Given the description of an element on the screen output the (x, y) to click on. 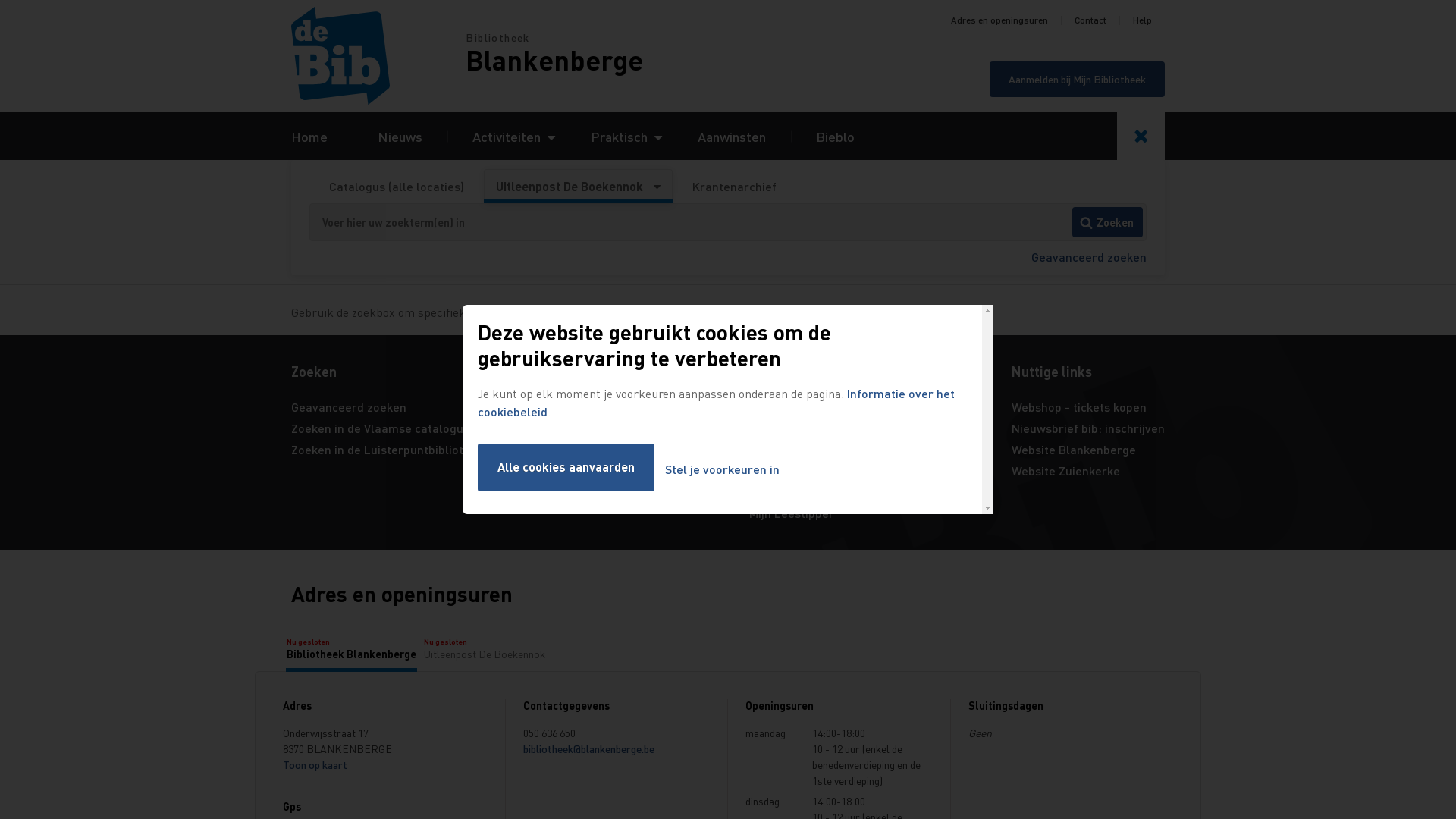
bibliotheek@blankenberge.be Element type: text (588, 748)
Alle cookies aanvaarden Element type: text (565, 466)
Home Element type: hover (378, 55)
Zoeken in de Luisterpuntbibliotheek Element type: text (390, 449)
Bieblo Element type: text (834, 136)
Geavanceerd zoeken Element type: text (1088, 256)
Taalpunt Jeugd Element type: text (603, 470)
Aanmelden bij Mijn Bibliotheek Element type: text (1076, 79)
Overslaan en naar zoeken gaan Element type: text (0, 0)
Toggle search Element type: hover (1140, 136)
Zoeken Element type: text (1107, 222)
Zoeken in de Vlaamse catalogus Element type: text (380, 428)
Webshop - tickets kopen Element type: text (1078, 406)
Home Element type: text (309, 136)
Informatie over het cookiebeleid Element type: text (715, 402)
Krantenarchief Element type: text (733, 186)
Taalpunt Nederlands Element type: text (619, 449)
Website Zuienkerke Element type: text (1065, 470)
Een e-reader aanvragen Element type: text (816, 449)
Historisch Infopunt Element type: text (613, 428)
Contact Element type: text (1090, 20)
Aanwinsten Element type: text (731, 136)
E-boeken lezen op je eigen toestel Element type: text (844, 470)
Stel je voorkeuren in Element type: text (722, 469)
Nu gesloten
Bibliotheek Blankenberge Element type: text (351, 648)
Nieuwsbrief bib: inschrijven Element type: text (1087, 428)
Mijn Leestipper Element type: text (791, 512)
Toon op kaart Element type: text (314, 764)
Adres en openingsuren Element type: text (999, 20)
Nu gesloten
Uitleenpost De Boekennok Element type: text (484, 648)
Digi-Hulp Element type: text (774, 428)
Geavanceerd zoeken Element type: text (348, 406)
Help Element type: text (1141, 20)
Nieuws Element type: text (399, 136)
Fundels Element type: text (583, 406)
Catalogus (alle locaties) Element type: text (396, 186)
Boekendienst aan huis Element type: text (811, 406)
Leesclub Element type: text (774, 491)
Uitleenpost De Boekennok Element type: text (577, 186)
Website Blankenberge Element type: text (1073, 449)
